Given the description of an element on the screen output the (x, y) to click on. 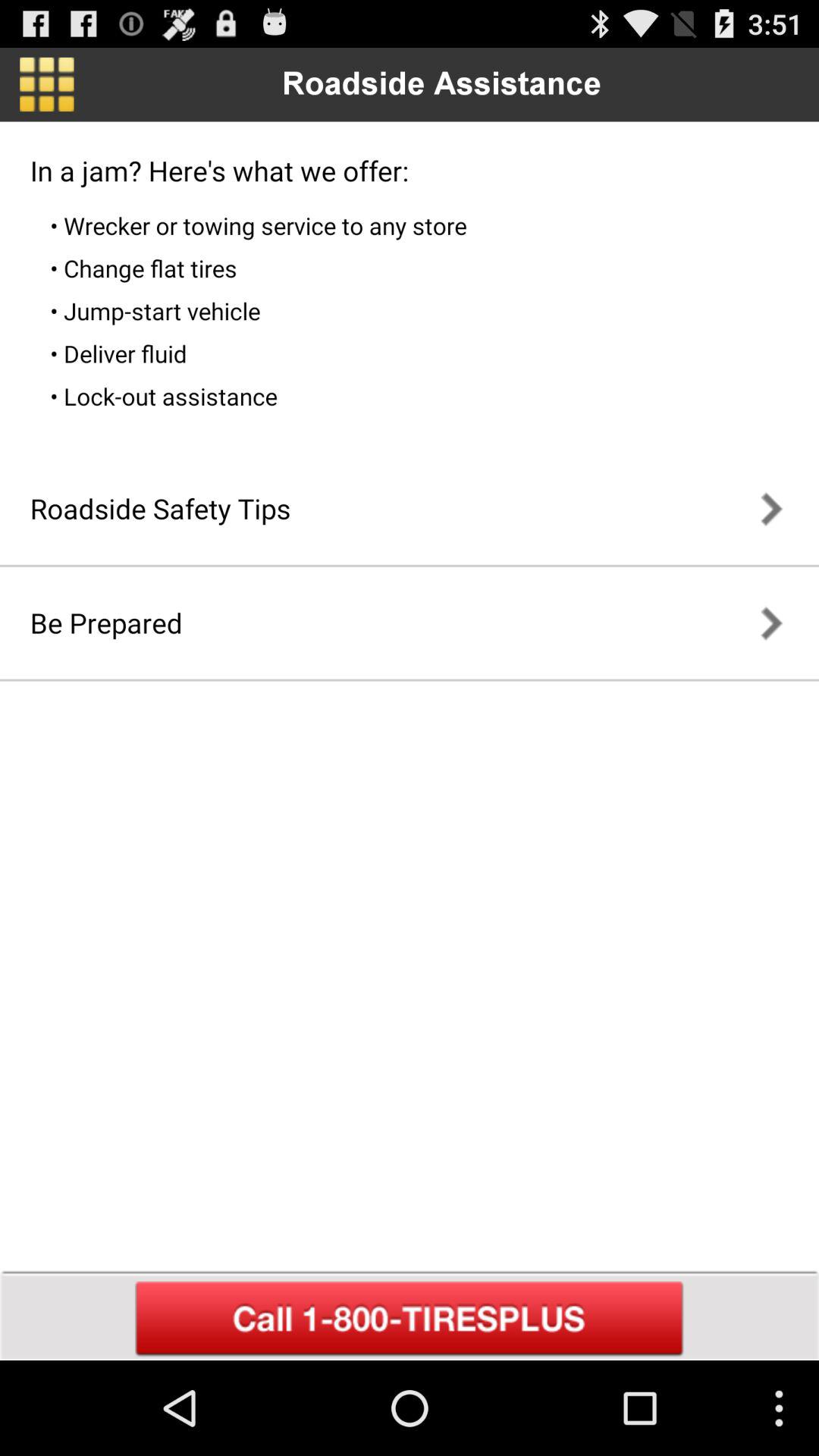
go back to main menu (46, 84)
